Given the description of an element on the screen output the (x, y) to click on. 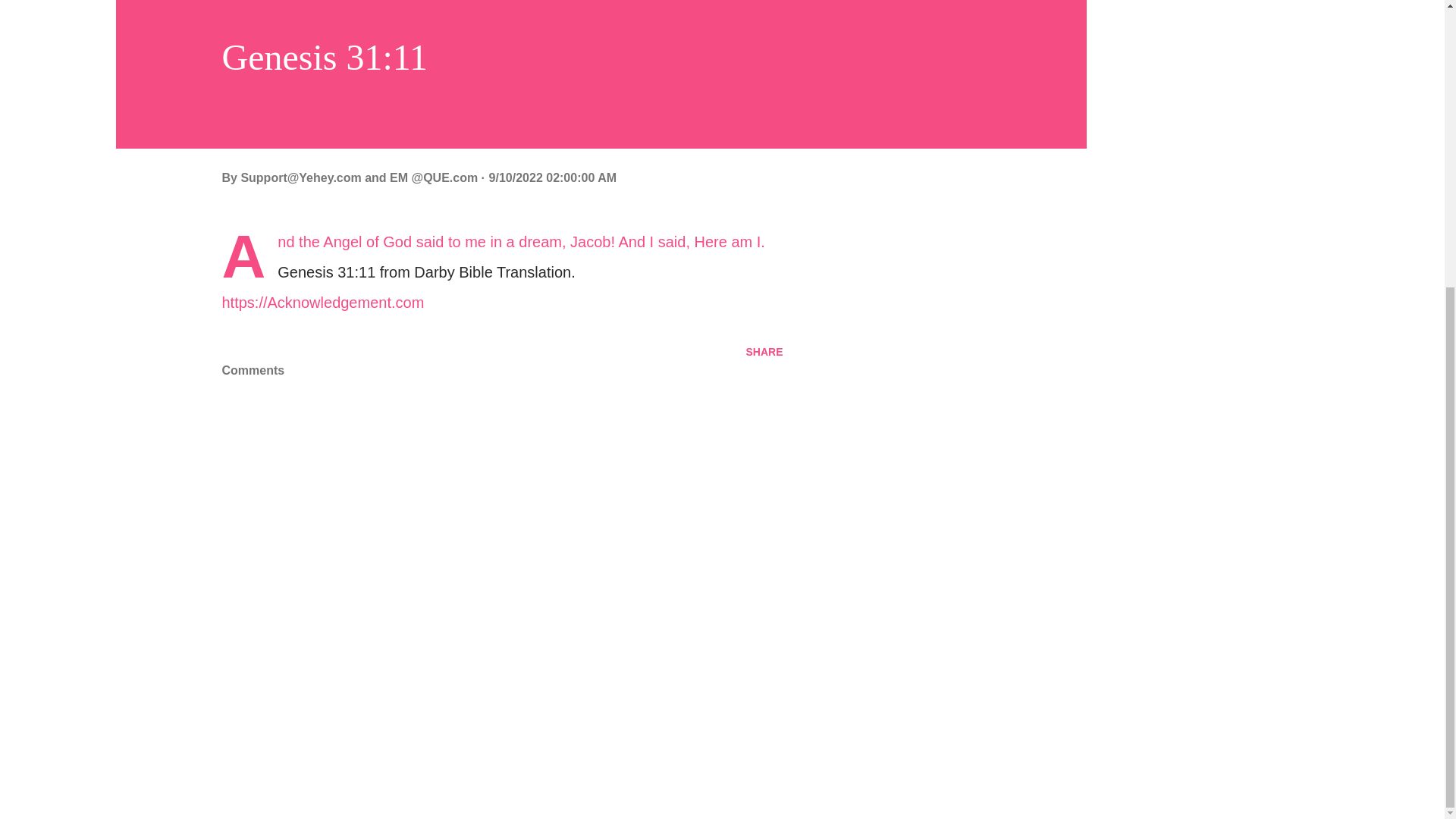
permanent link (552, 177)
SHARE (764, 351)
